Given the description of an element on the screen output the (x, y) to click on. 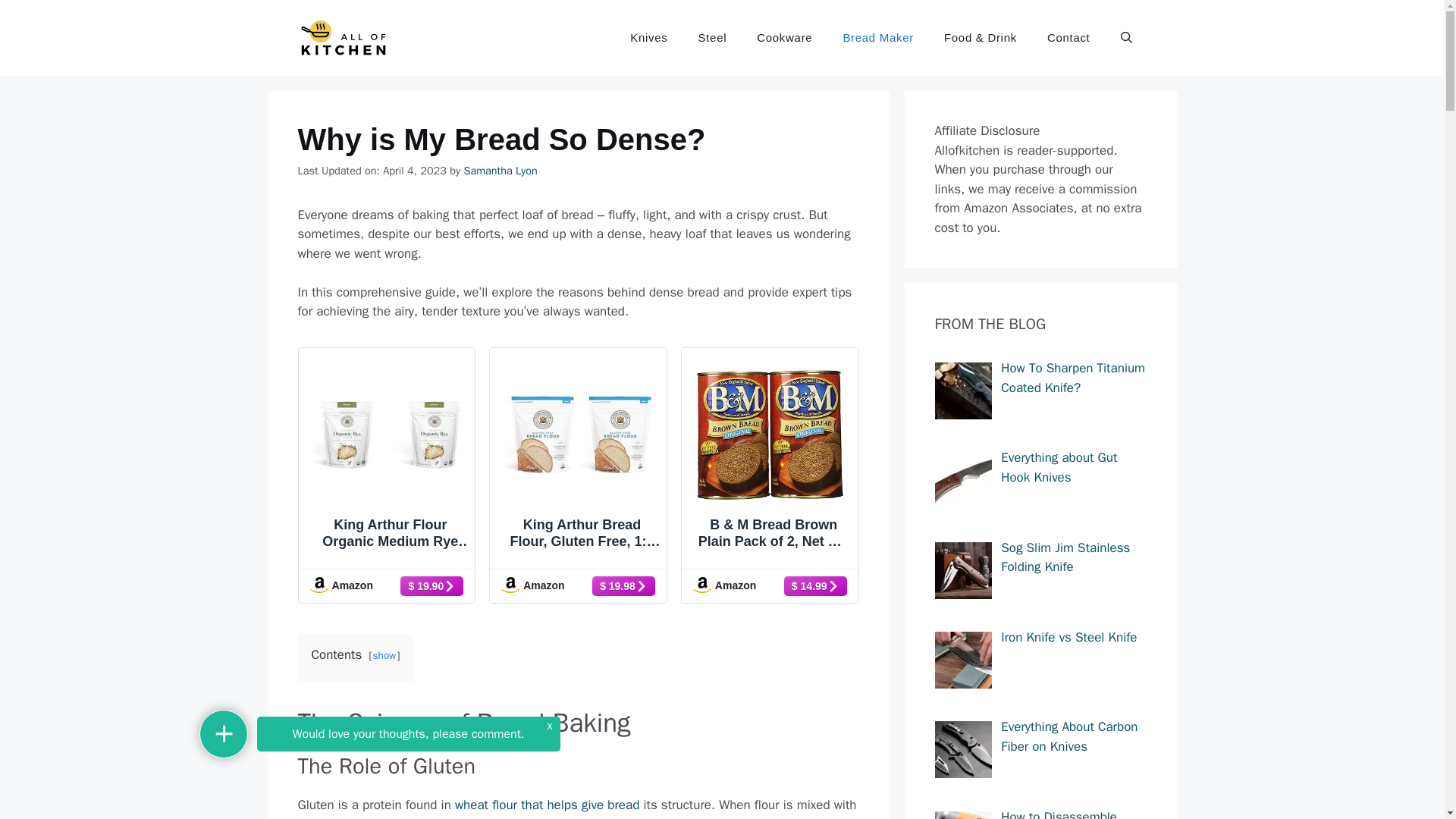
Knives (648, 37)
Samantha Lyon (500, 170)
show (384, 655)
Contact (1068, 37)
Steel (712, 37)
Cookware (784, 37)
Bread Maker (877, 37)
View all posts by Samantha Lyon (500, 170)
